Given the description of an element on the screen output the (x, y) to click on. 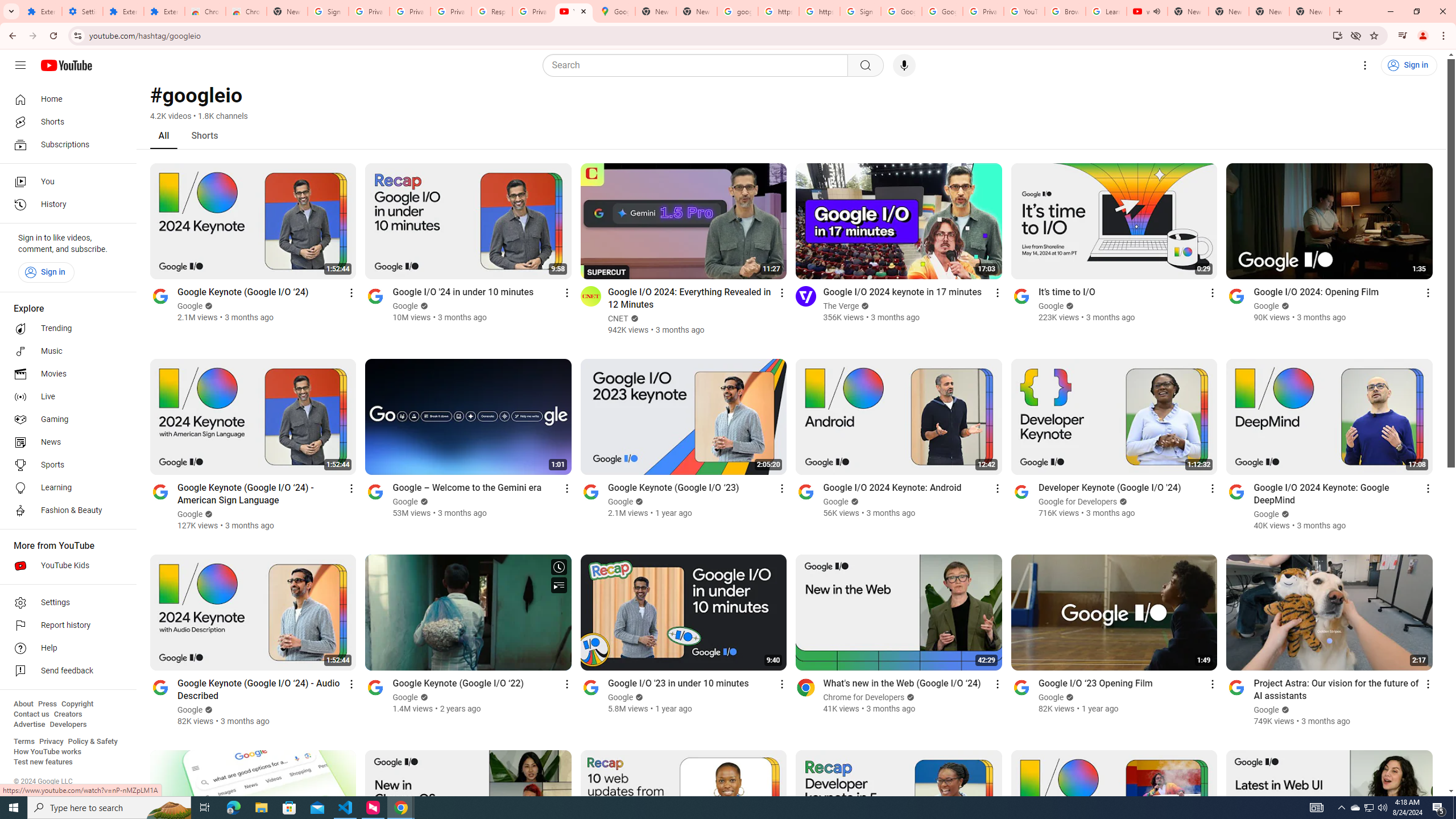
Home (64, 99)
Music (64, 350)
YouTube Kids (64, 565)
Guide (20, 65)
Shorts (64, 121)
Sign in - Google Accounts (860, 11)
Help (64, 648)
YouTube (1023, 11)
Chrome Web Store (205, 11)
News (64, 441)
Search (865, 65)
Google Maps (614, 11)
New Tab (1309, 11)
